Given the description of an element on the screen output the (x, y) to click on. 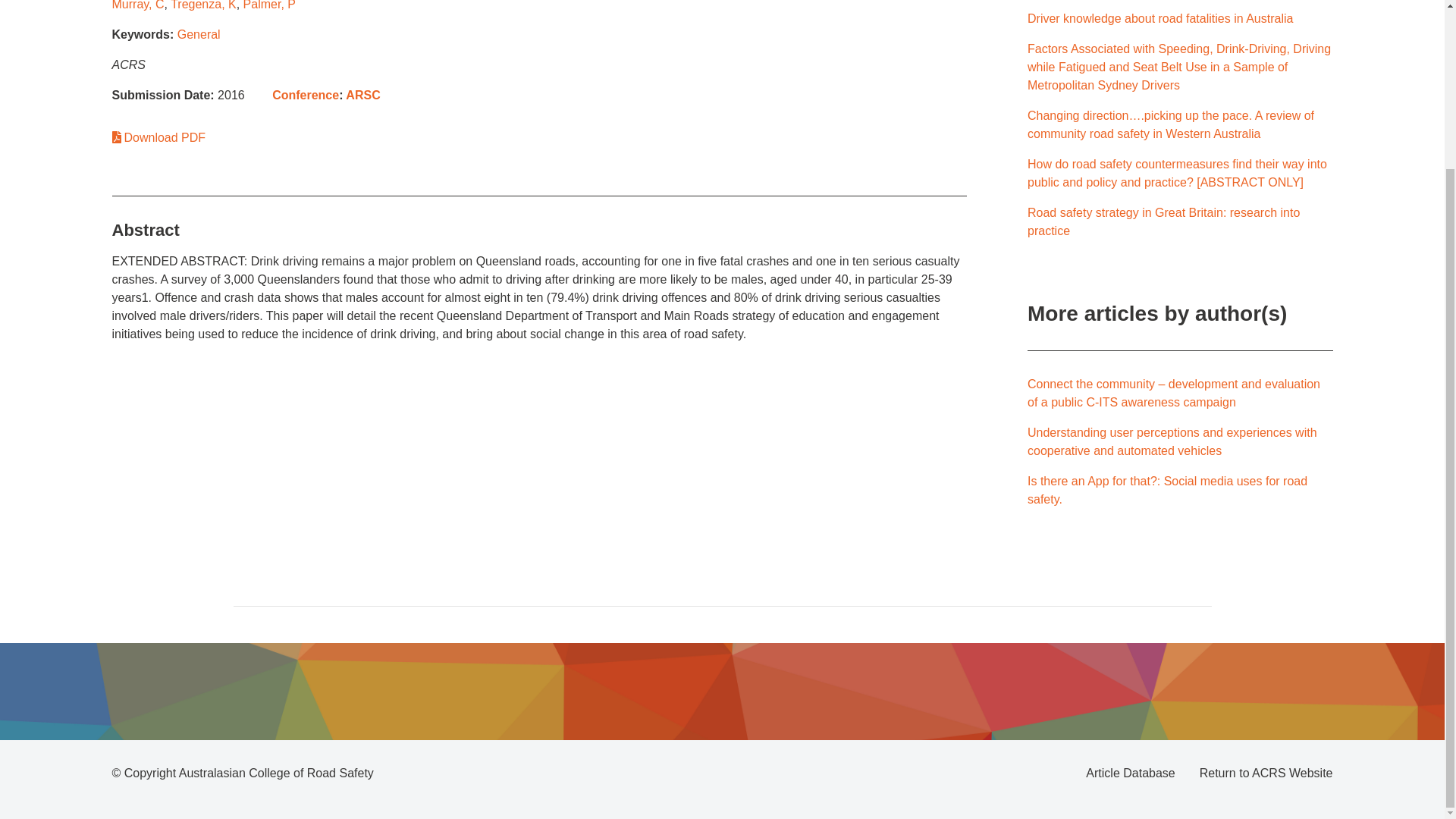
Article Database (1130, 773)
Australasian College of Road Safety (276, 772)
Return to ACRS Website (1266, 773)
Palmer, P (269, 5)
Conference (305, 94)
Tregenza, K (202, 5)
General (199, 33)
Murray, C (138, 5)
ARSC (363, 94)
Download PDF (159, 137)
Driver knowledge about road fatalities in Australia (1159, 18)
